Given the description of an element on the screen output the (x, y) to click on. 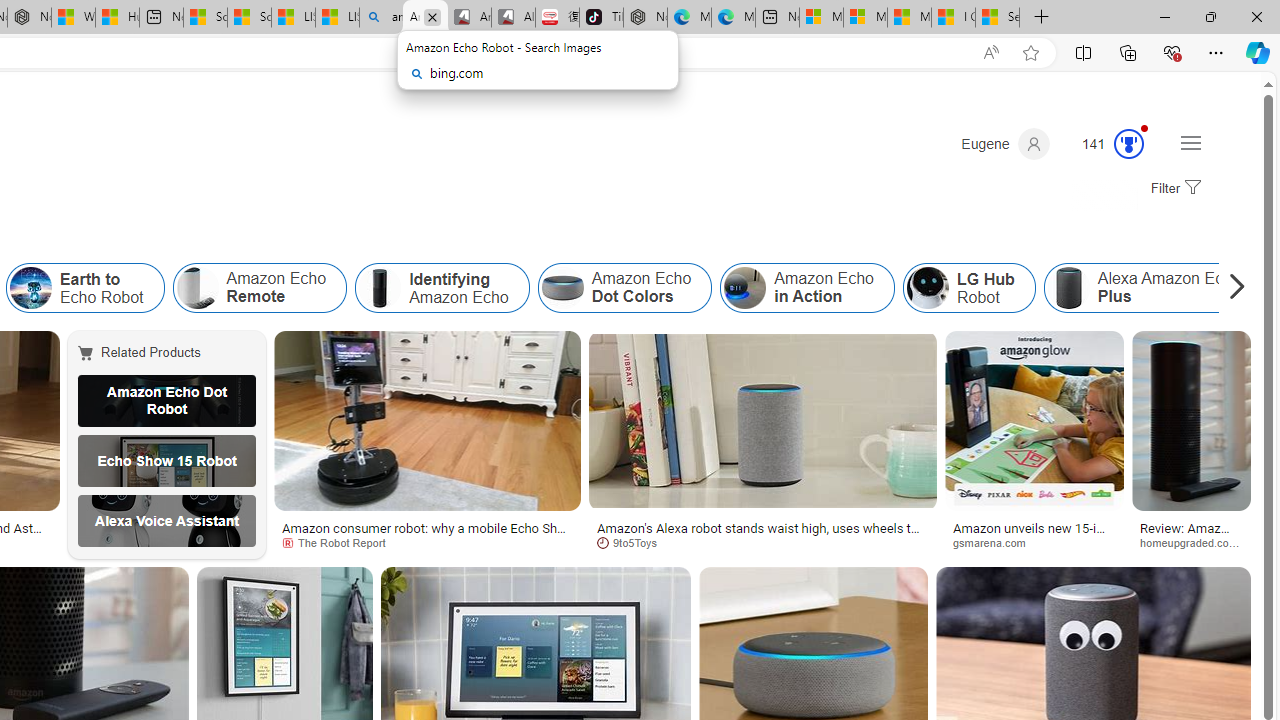
Echo Show 15 Robot (167, 460)
Amazon Echo Dot Colors (562, 287)
homeupgraded.com (1195, 541)
Scroll right (1231, 287)
Huge shark washes ashore at New York City beach | Watch (117, 17)
Microsoft account | Privacy (865, 17)
Eugene (1005, 143)
